Given the description of an element on the screen output the (x, y) to click on. 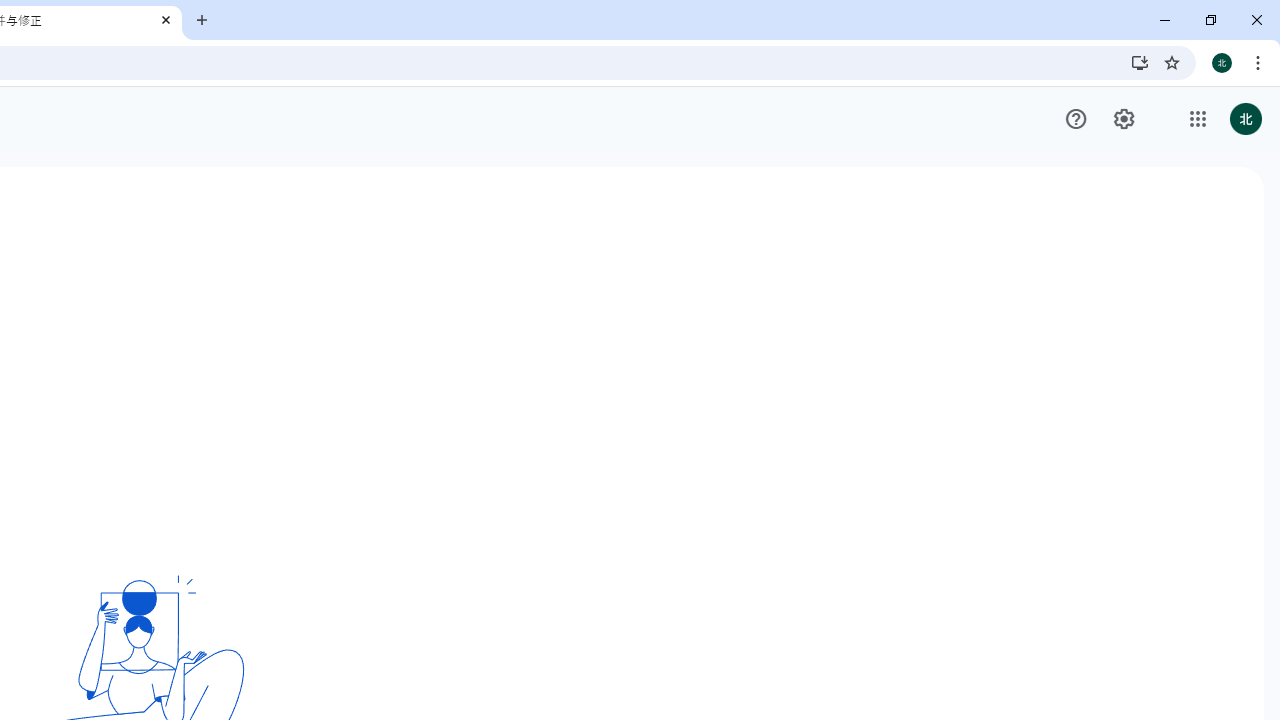
Install Google Contacts (1139, 62)
